Given the description of an element on the screen output the (x, y) to click on. 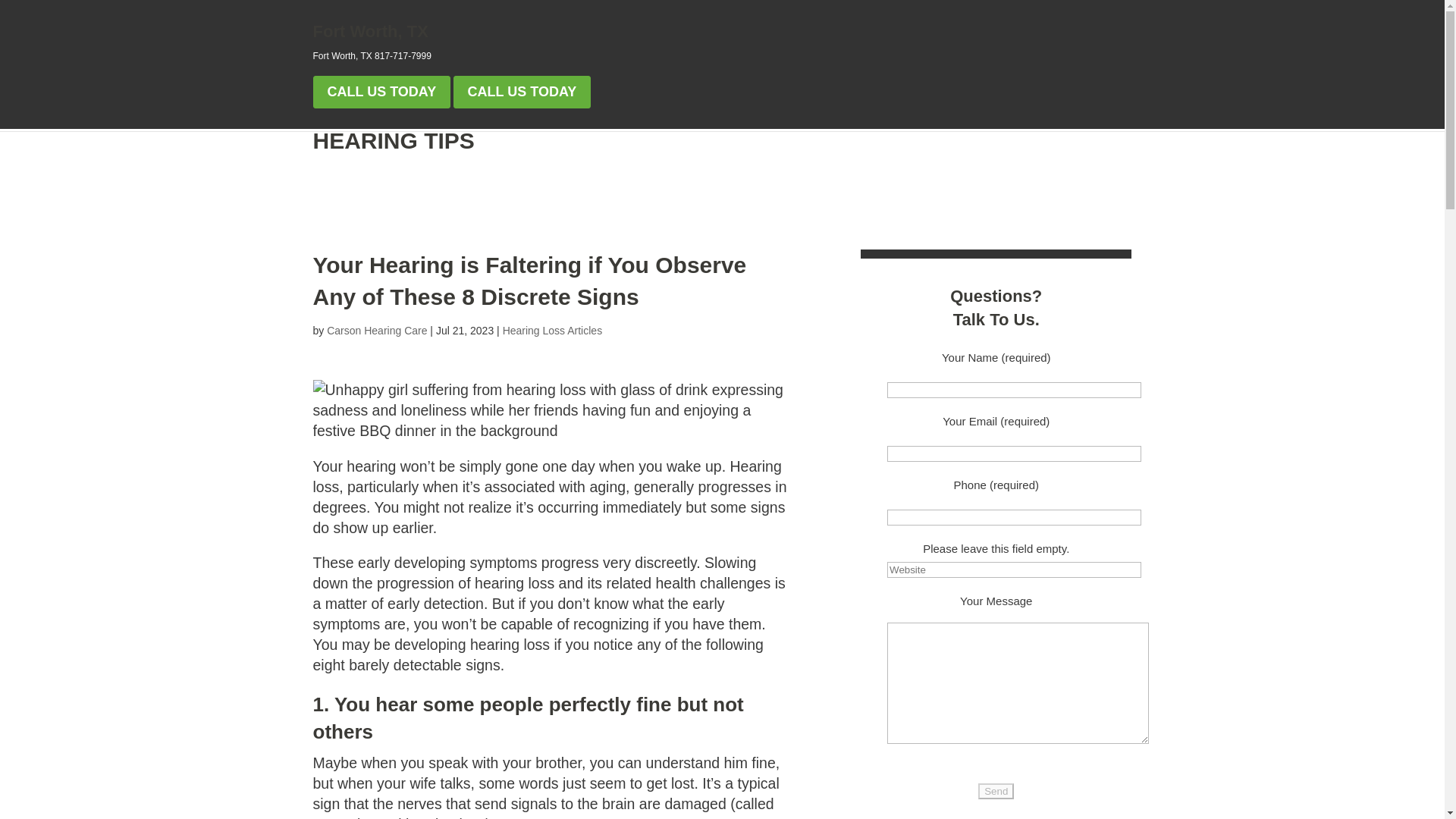
Hearing Loss Articles (552, 330)
CALL US TODAY (521, 92)
Carson Hearing Care (545, 31)
Hearing Loss (604, 105)
Hearing Aids (705, 105)
Carson Hearing Care (400, 31)
Posts by Carson Hearing Care (376, 330)
817-717-7999 (402, 55)
Carson Hearing Care (376, 330)
About Us (946, 105)
